Given the description of an element on the screen output the (x, y) to click on. 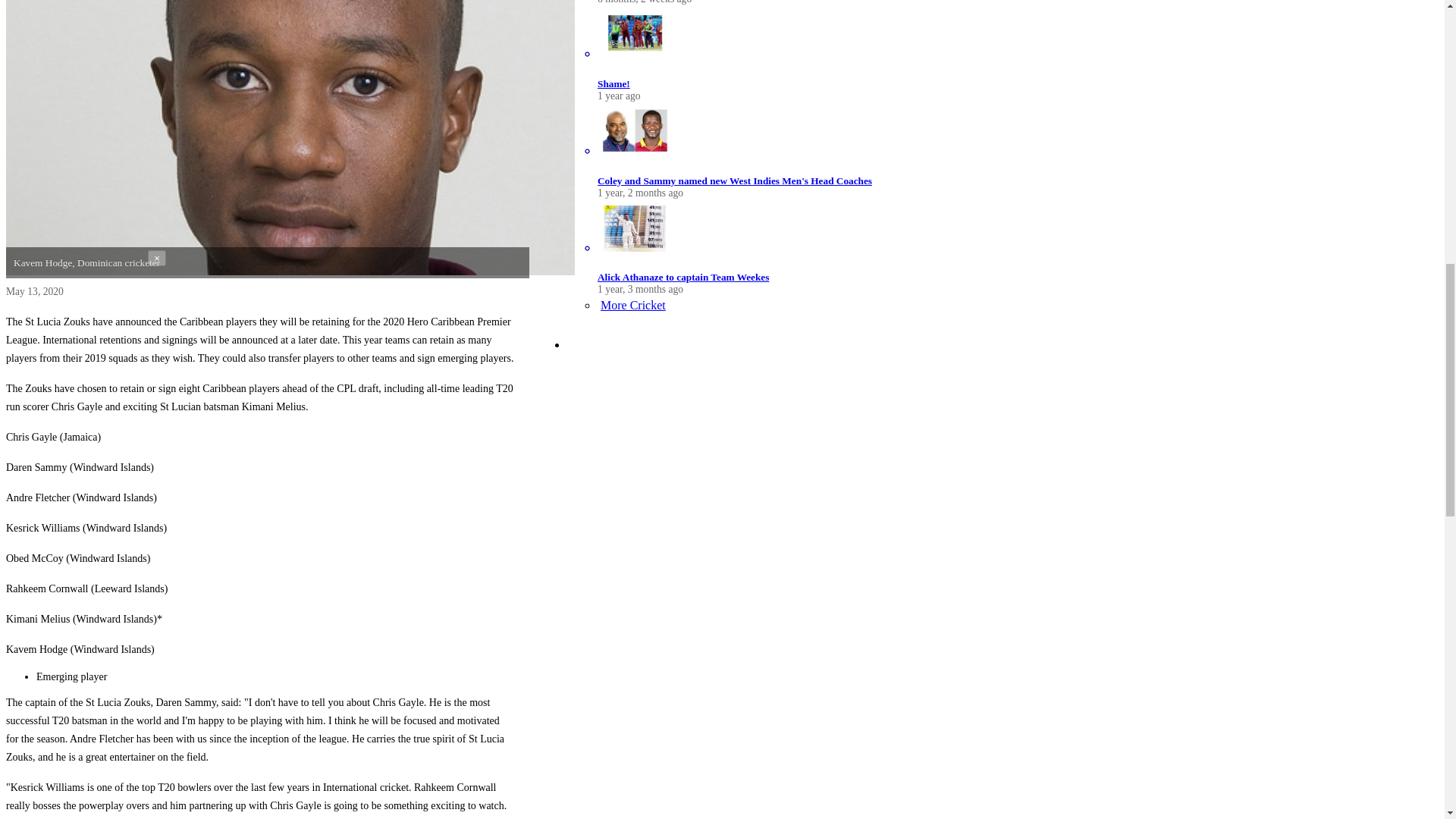
Coley and Sammy named new West Indies Men's Head Coaches (734, 179)
Shame! (613, 83)
More Cricket (630, 305)
Alick Athanaze to captain Team Weekes (682, 276)
